Given the description of an element on the screen output the (x, y) to click on. 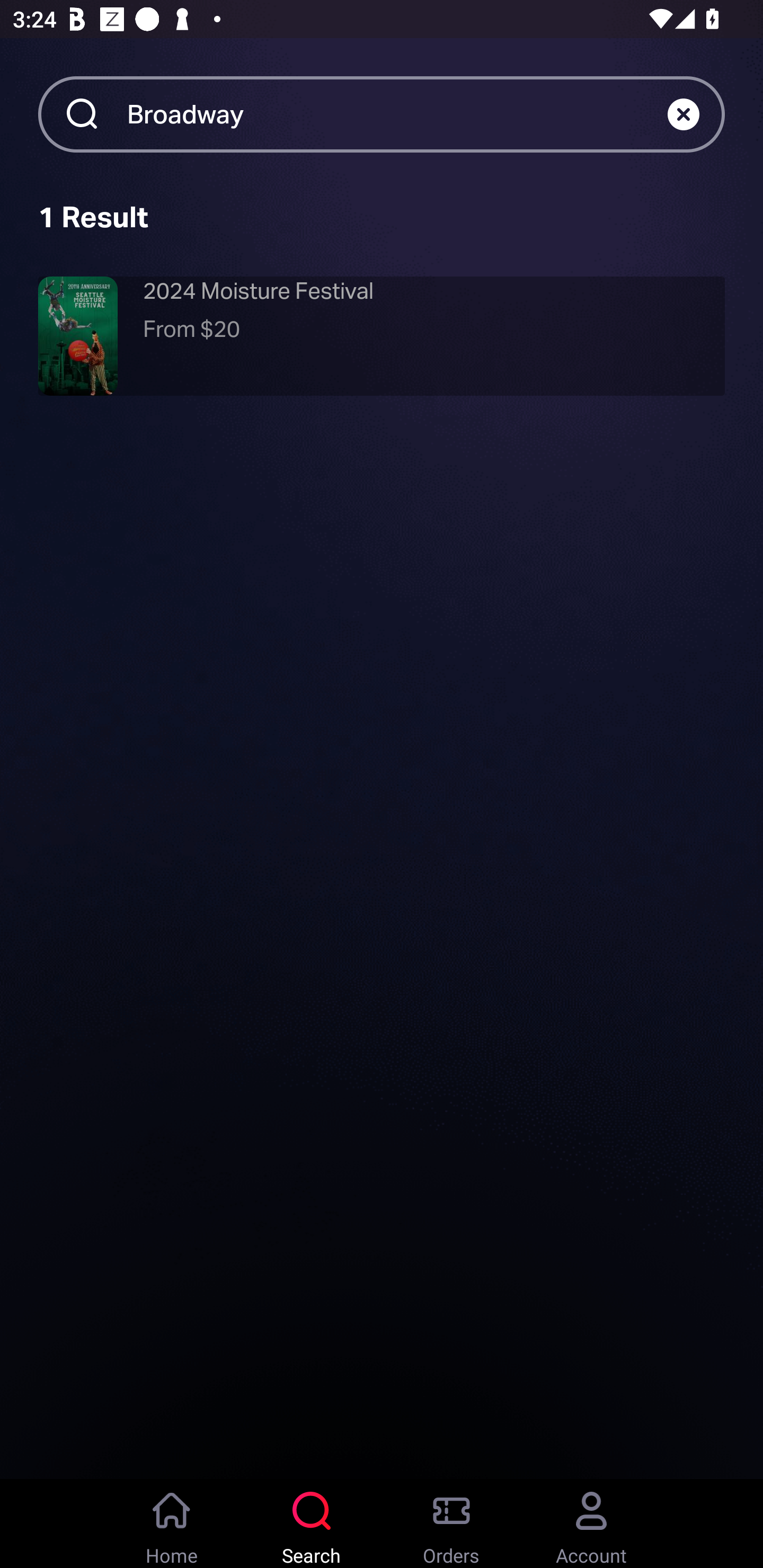
Broadway (397, 113)
Home (171, 1523)
Orders (451, 1523)
Account (591, 1523)
